Given the description of an element on the screen output the (x, y) to click on. 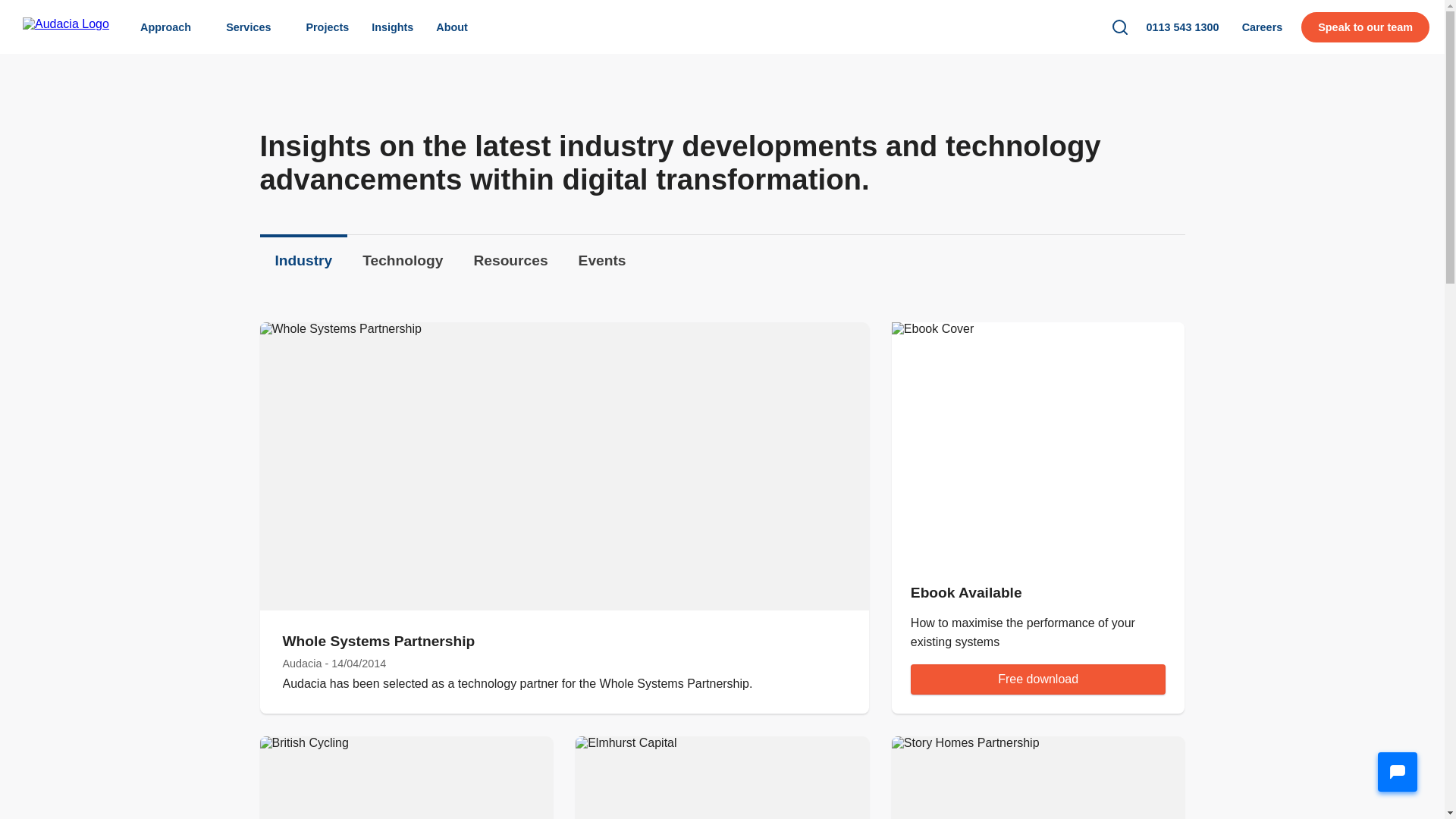
Technology (402, 273)
Projects (326, 27)
0113 543 1300 (1182, 27)
Insights (392, 27)
Services (254, 27)
About (452, 27)
Industry (303, 275)
Resources (510, 271)
Speak to our team (1365, 27)
Careers (1262, 27)
